Given the description of an element on the screen output the (x, y) to click on. 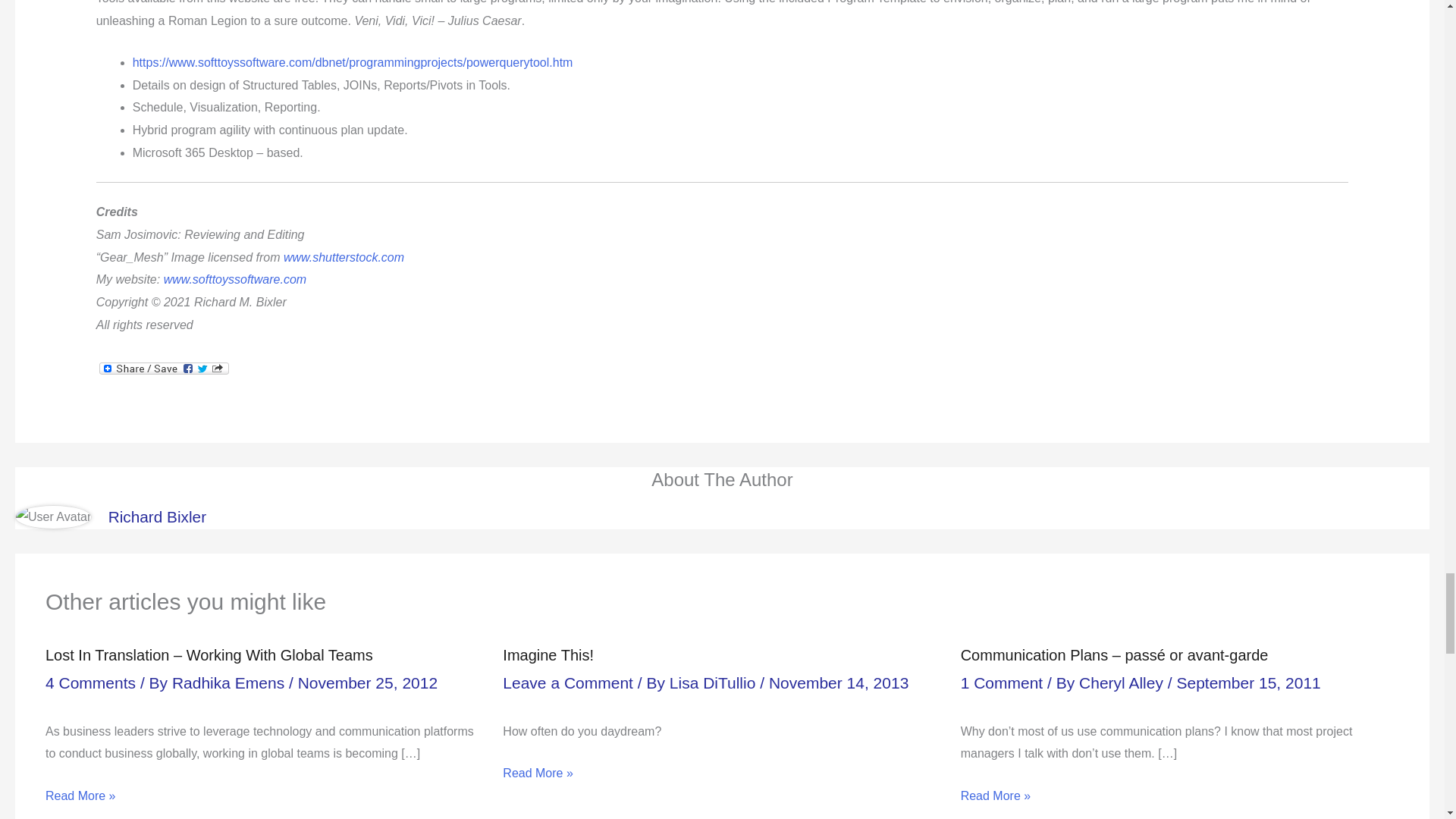
View all posts by Radhika Emens (229, 682)
View all posts by Lisa DiTullio (714, 682)
View all posts by Cheryl Alley (1122, 682)
